Given the description of an element on the screen output the (x, y) to click on. 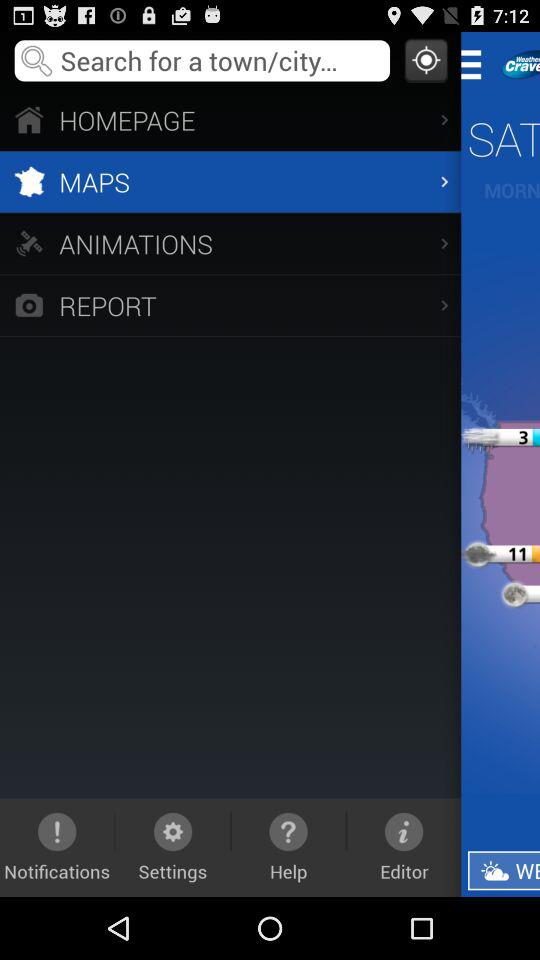
return to main menu (477, 63)
